Given the description of an element on the screen output the (x, y) to click on. 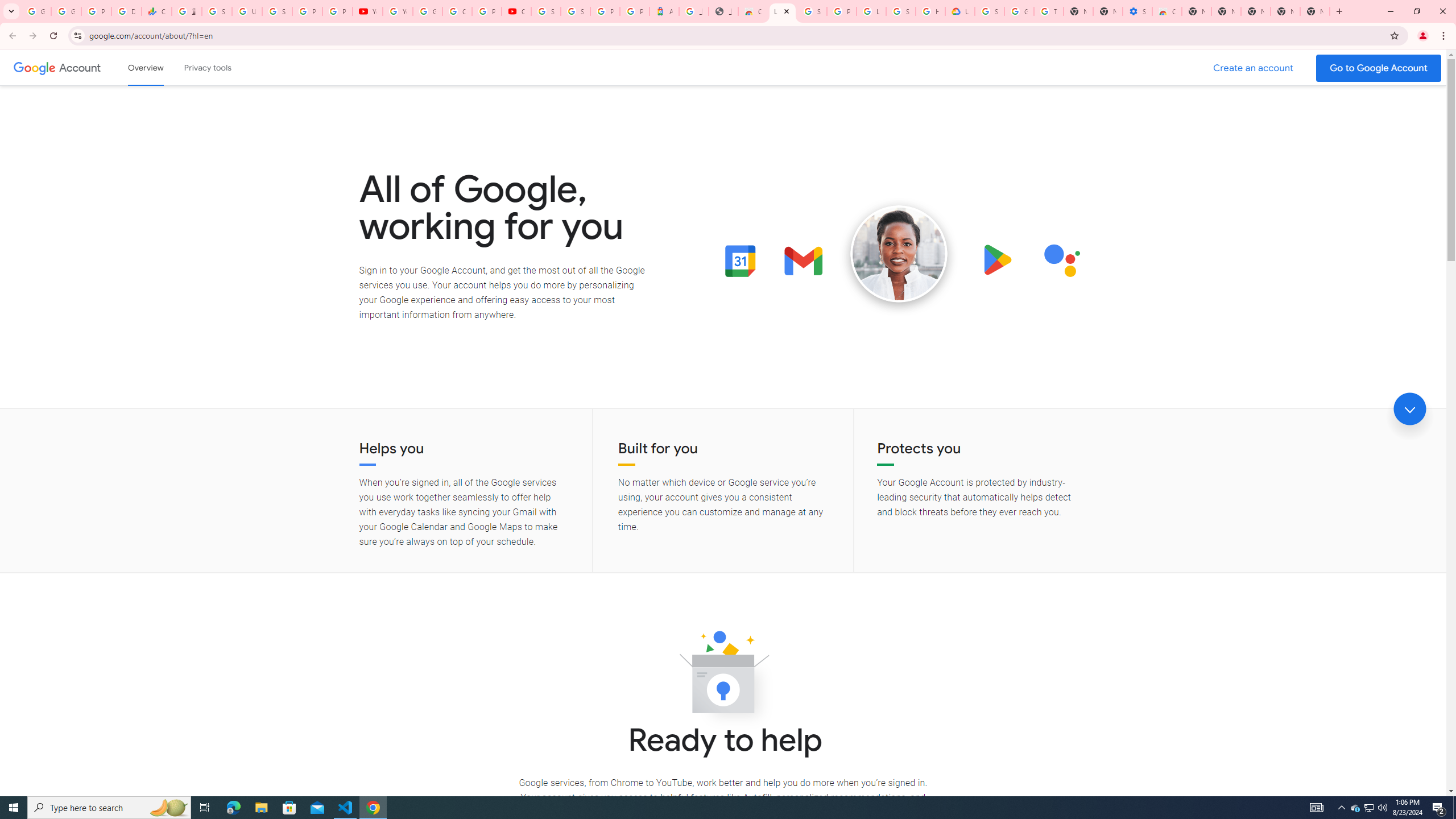
Google Account overview (145, 67)
New Tab (1196, 11)
Content Creator Programs & Opportunities - YouTube Creators (515, 11)
Sign in - Google Accounts (811, 11)
Sign in - Google Accounts (900, 11)
